Given the description of an element on the screen output the (x, y) to click on. 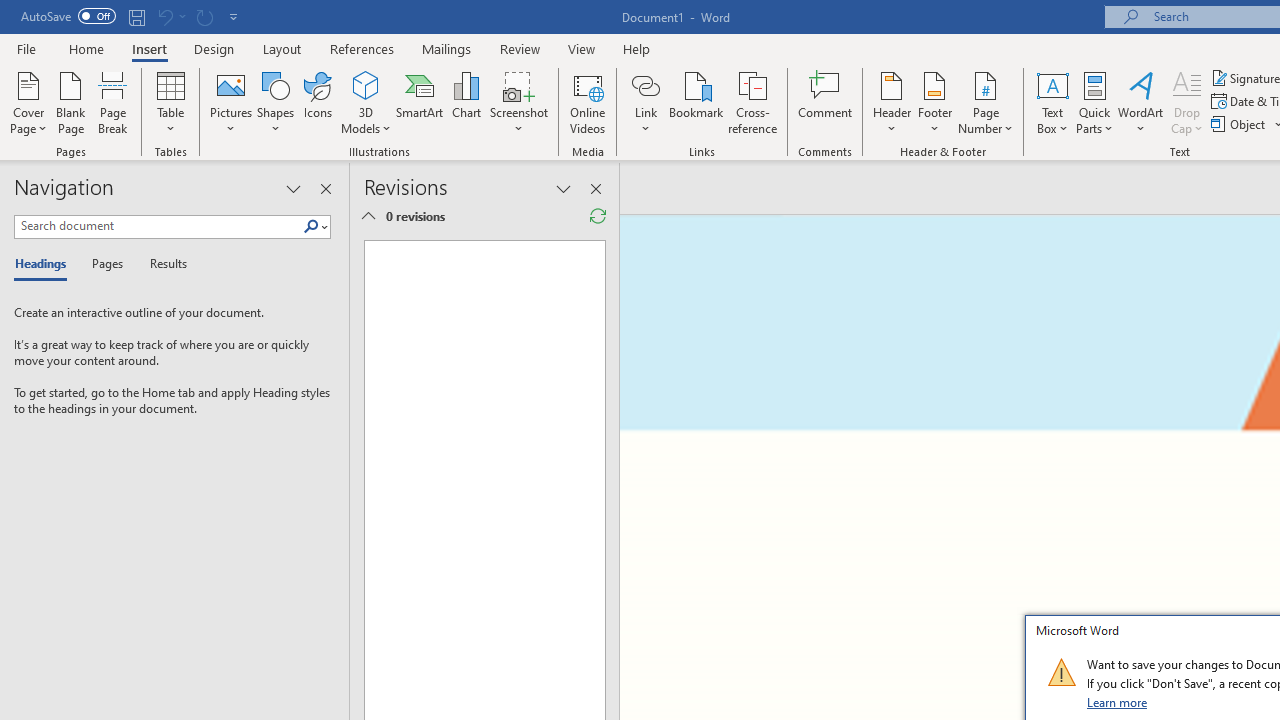
Text Box (1052, 102)
Cover Page (28, 102)
Comment (825, 102)
Results (161, 264)
Cross-reference... (752, 102)
Can't Undo (164, 15)
Can't Undo (170, 15)
Icons (317, 102)
